Given the description of an element on the screen output the (x, y) to click on. 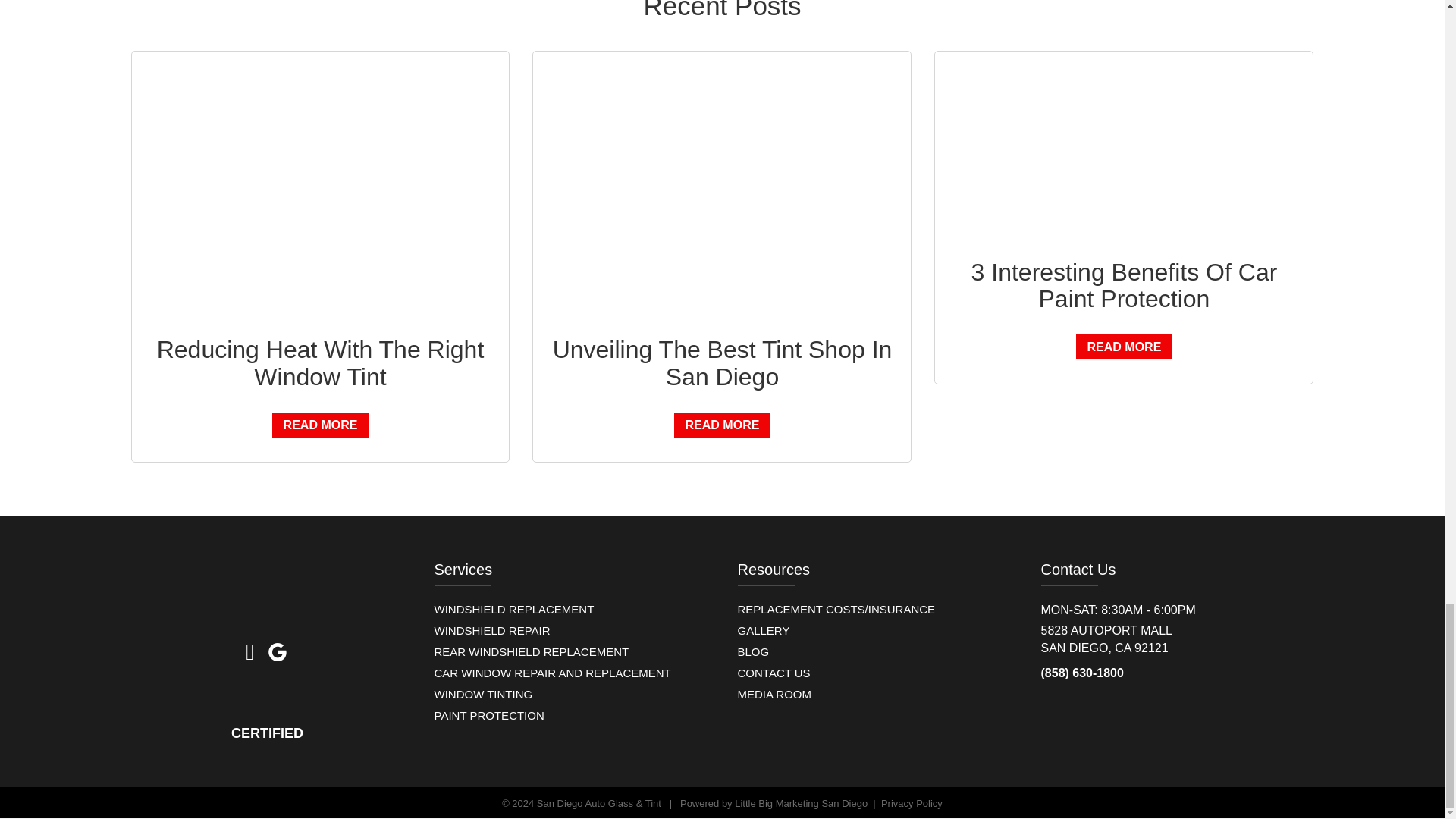
WINDSHIELD REPAIR (568, 626)
Unveiling The Best Tint Shop In San Diego (722, 362)
Unveiling the Best Tint Shop in San Diego 3 (721, 197)
Reducing Heat With The Right Window Tint (320, 362)
3 Interesting Benefits of Car Paint Protection 5 (1123, 159)
WINDSHIELD REPLACEMENT (568, 605)
Reducing Heat with the Right Window Tint (319, 197)
Reducing Heat with the Right Window Tint (320, 362)
Reducing Heat with the Right Window Tint 1 (319, 197)
READ MORE (722, 424)
